Given the description of an element on the screen output the (x, y) to click on. 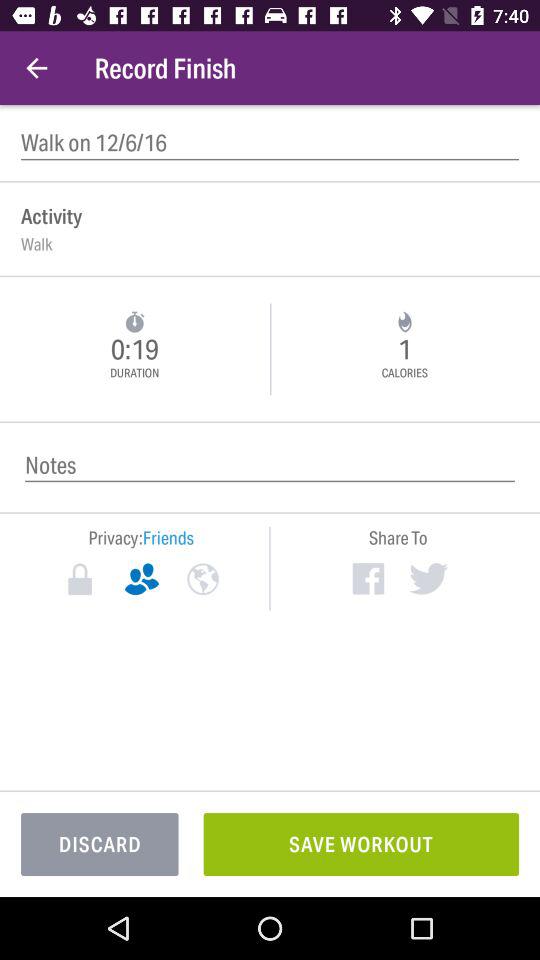
hide all personal information (80, 579)
